Given the description of an element on the screen output the (x, y) to click on. 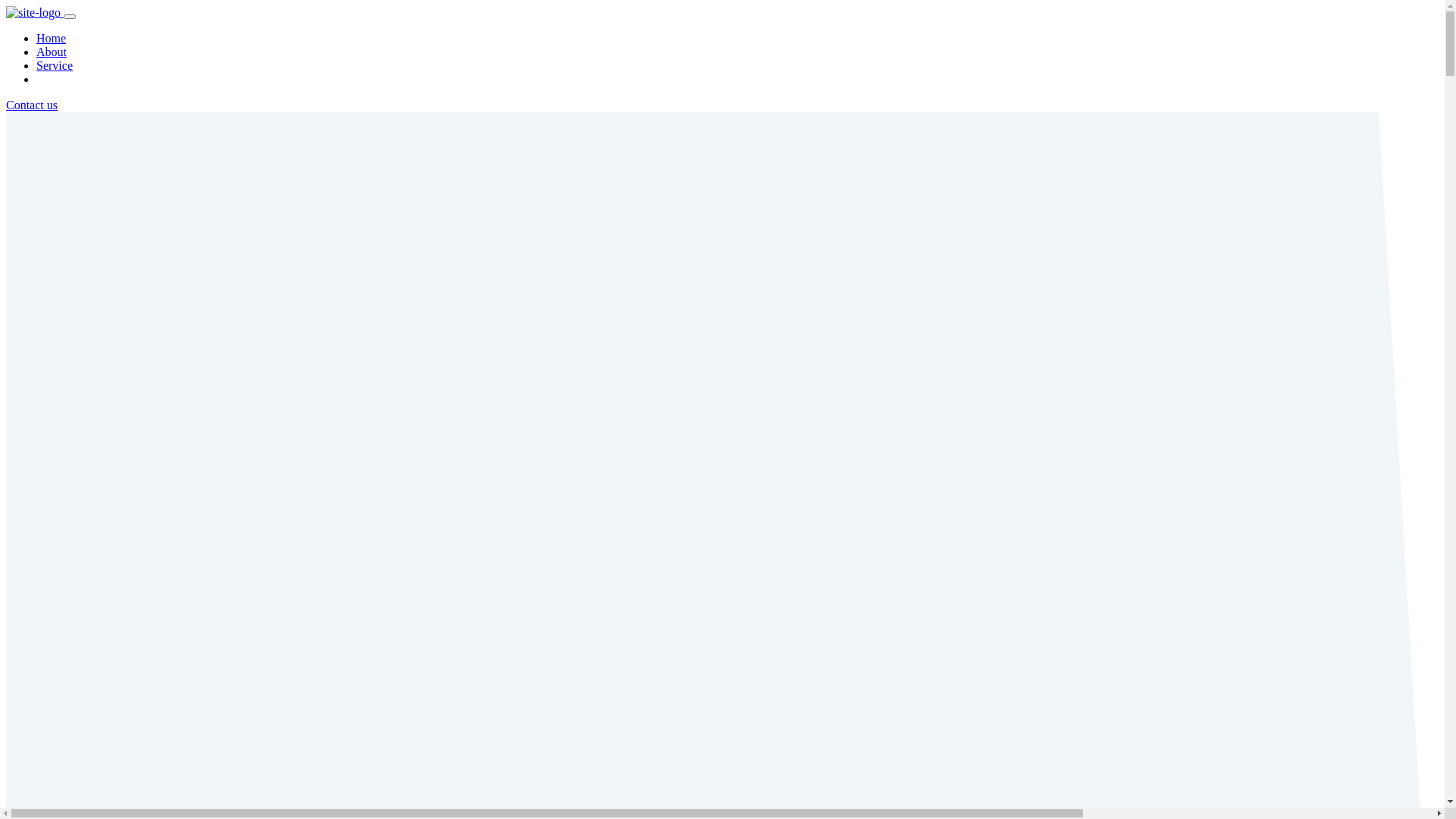
Service Element type: text (54, 65)
Home Element type: text (50, 37)
Contact us Element type: text (31, 104)
About Element type: text (51, 51)
